Given the description of an element on the screen output the (x, y) to click on. 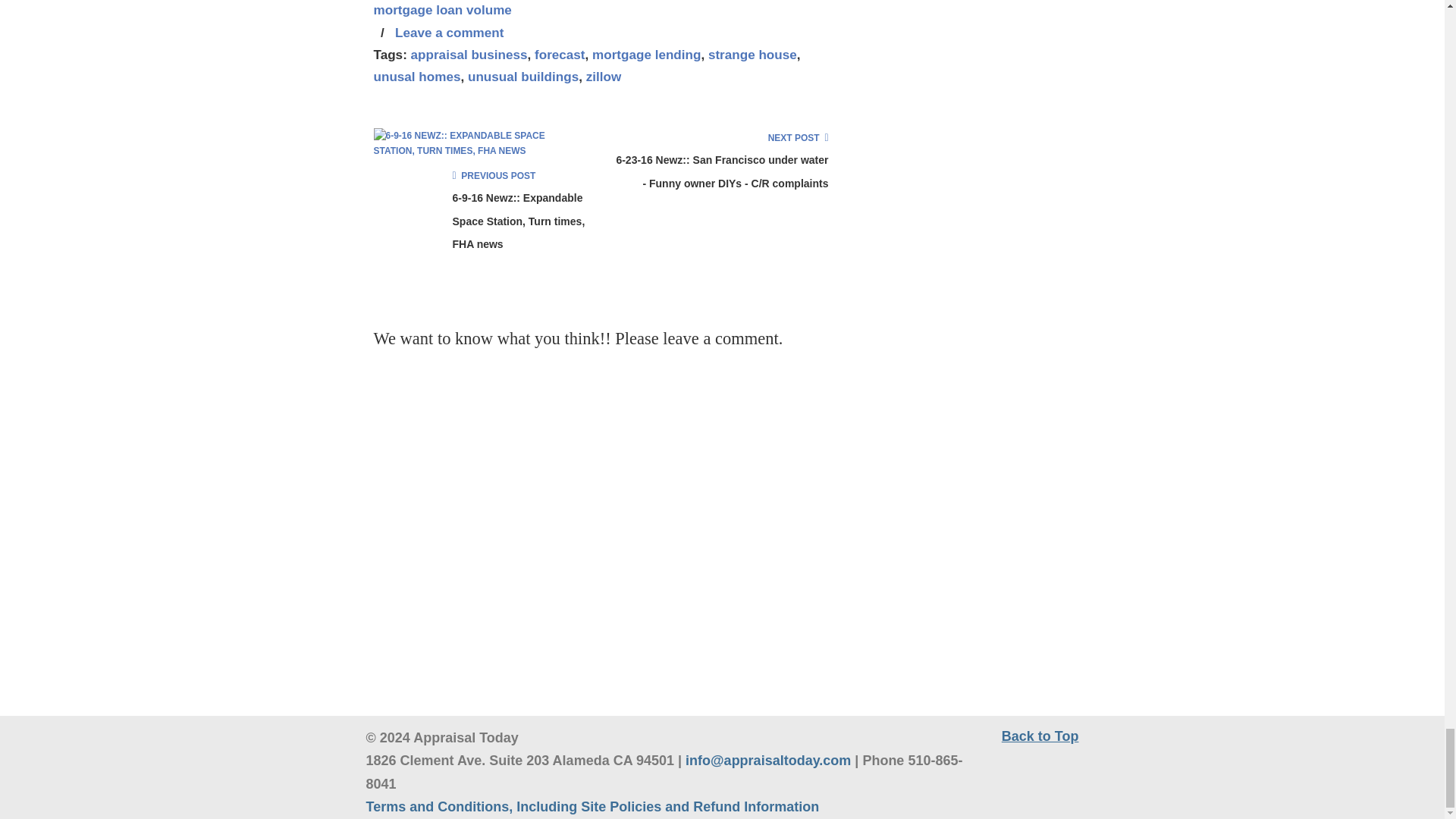
unusual buildings (522, 76)
Go to next post (798, 137)
Leave a comment (448, 33)
Go to previous post (493, 175)
appraisal business (468, 55)
forecast (559, 55)
mortgage loan volume (441, 10)
strange house (751, 55)
unusal homes (416, 76)
